Given the description of an element on the screen output the (x, y) to click on. 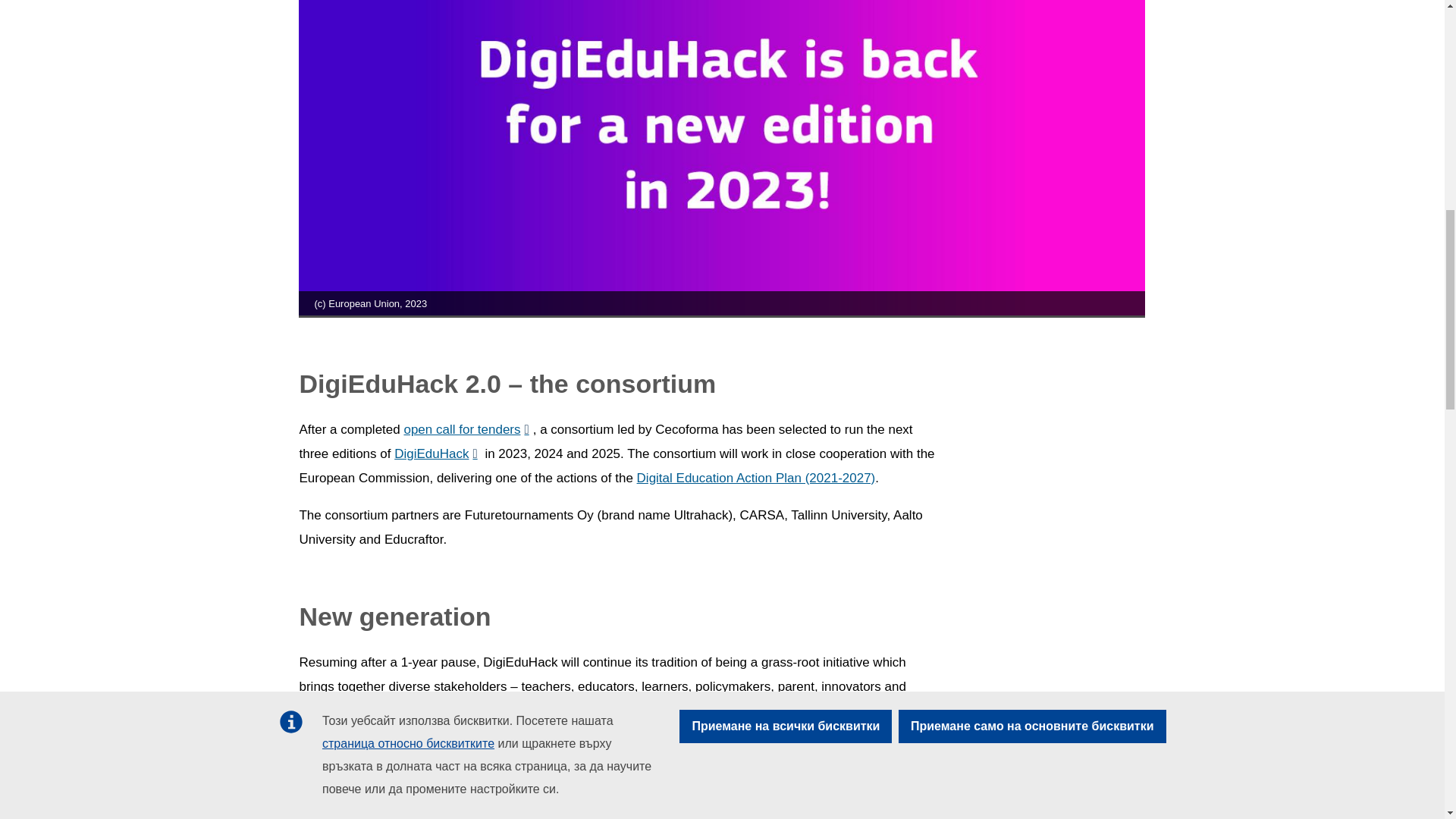
DigiEduHack (435, 453)
open call for tenders (465, 429)
